Given the description of an element on the screen output the (x, y) to click on. 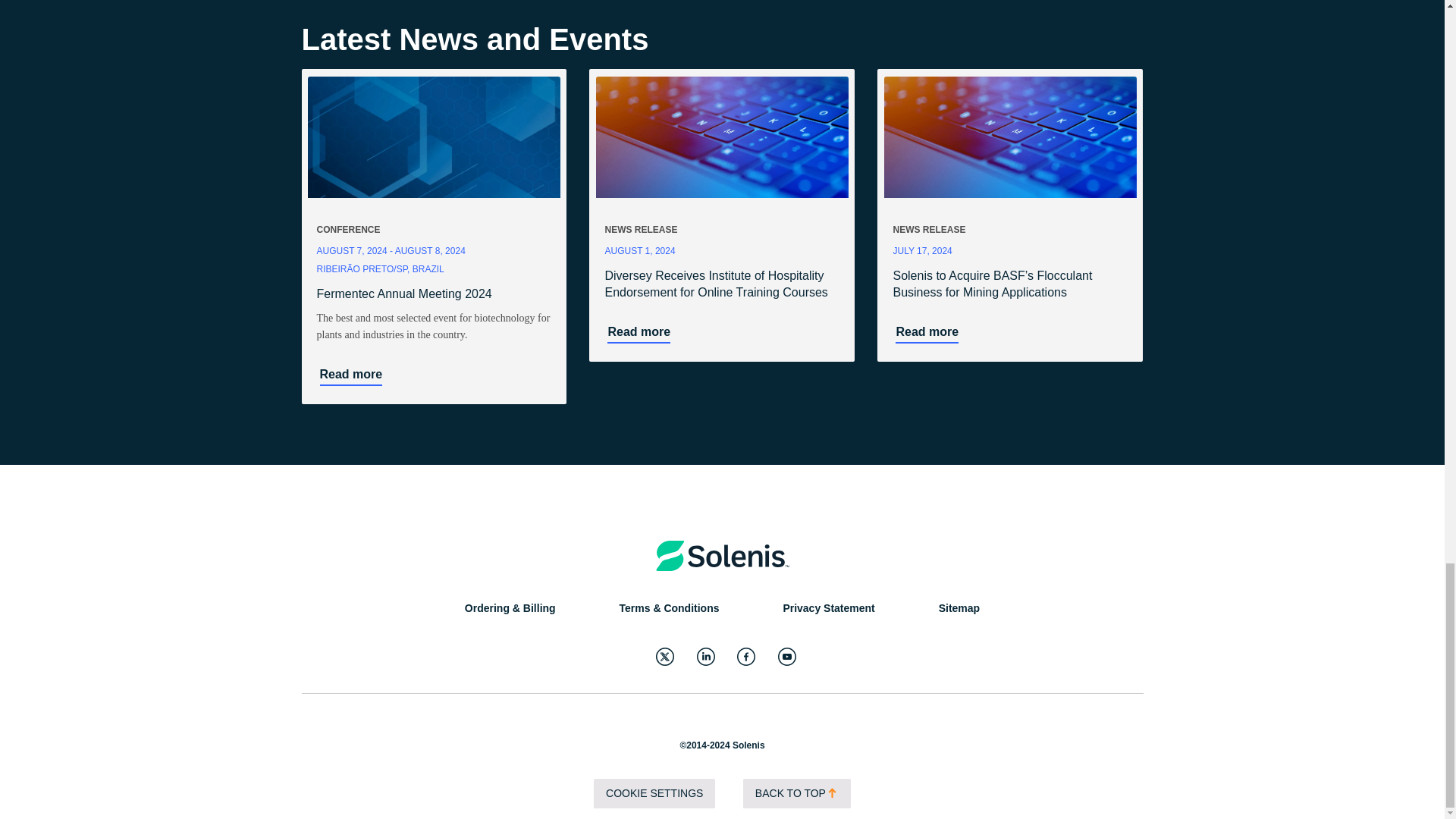
X (665, 656)
Facebook (745, 656)
Youtube (786, 656)
Linkedin (705, 656)
